Given the description of an element on the screen output the (x, y) to click on. 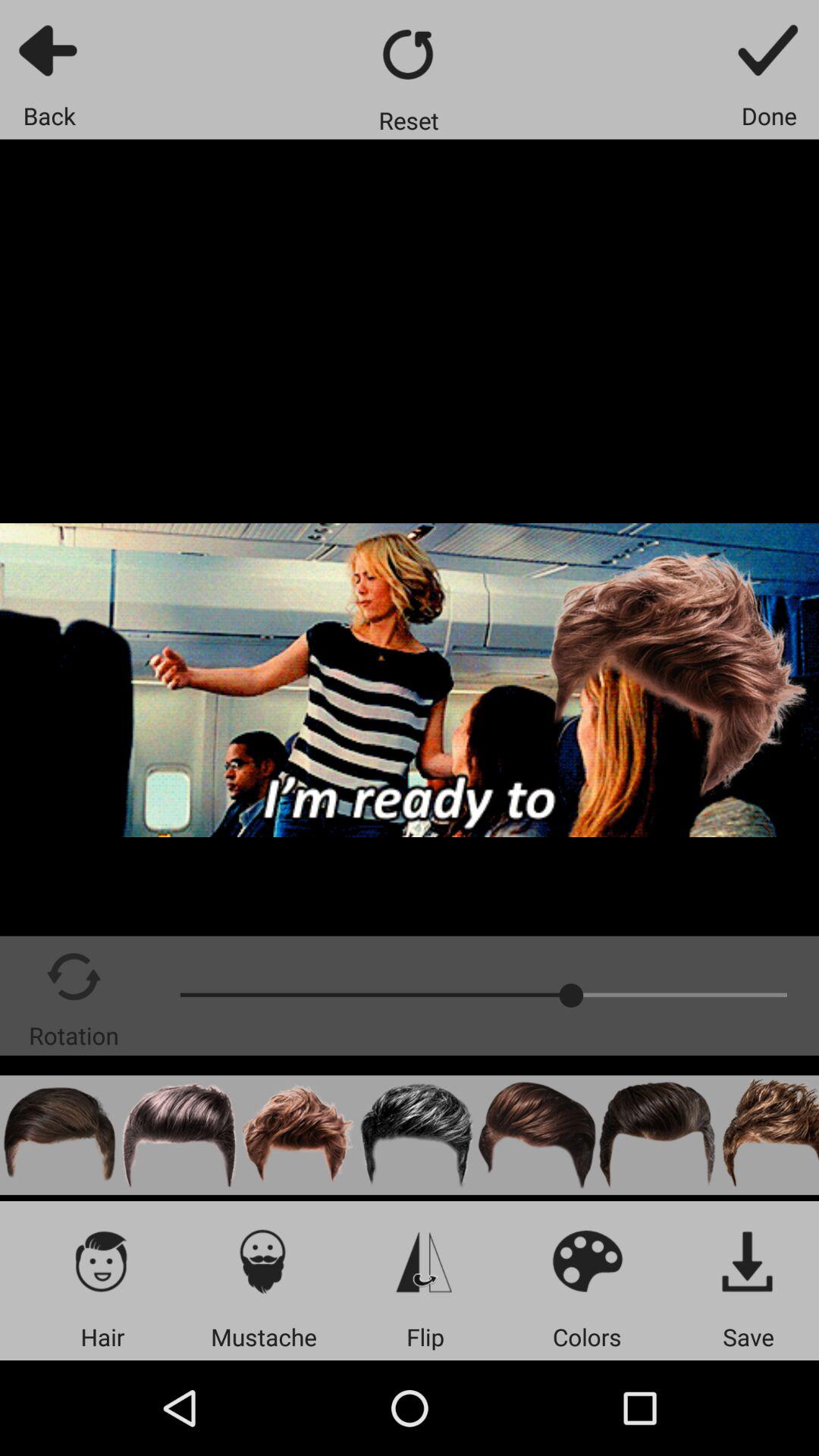
select colors (586, 1260)
